Given the description of an element on the screen output the (x, y) to click on. 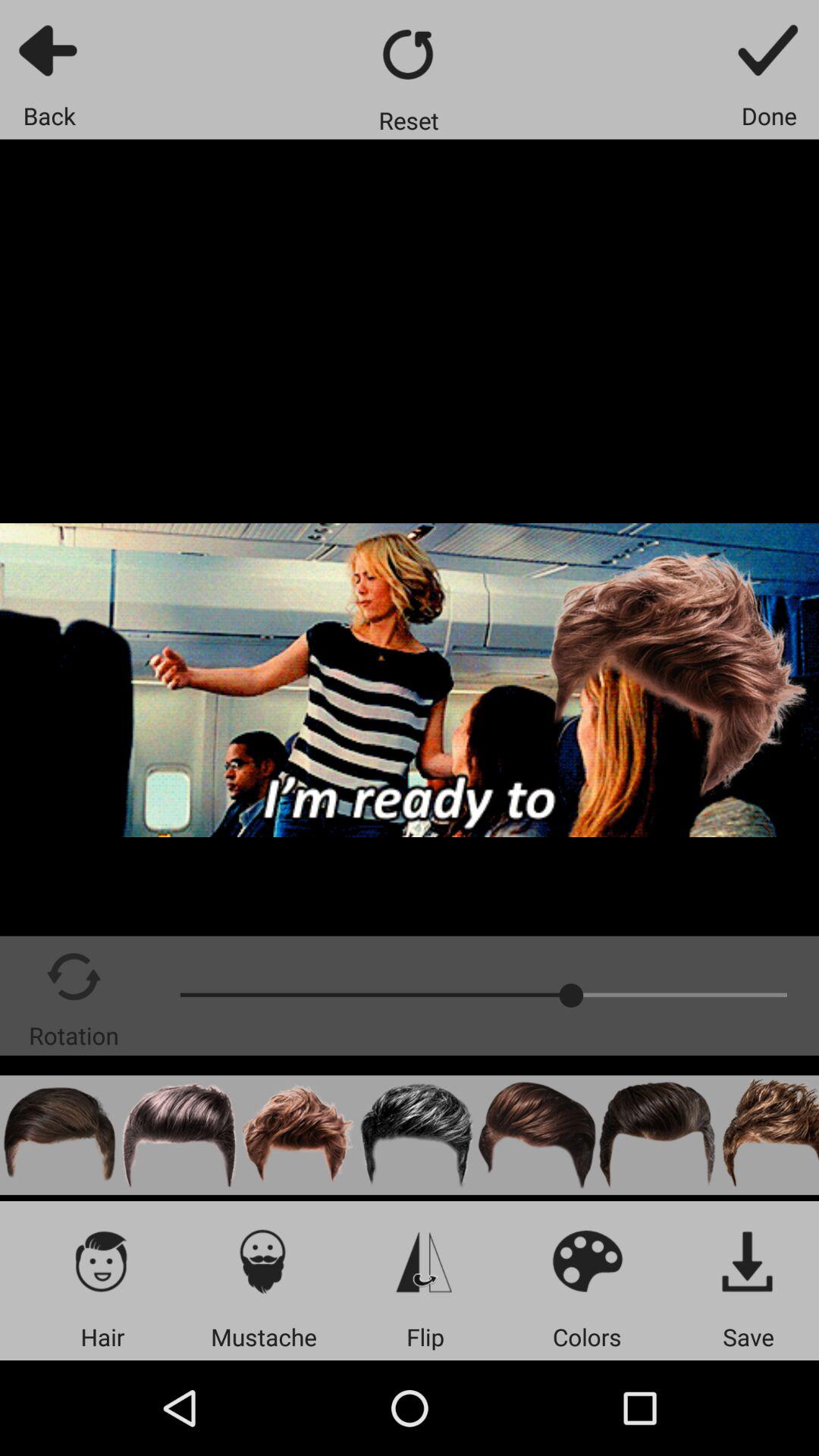
select colors (586, 1260)
